Given the description of an element on the screen output the (x, y) to click on. 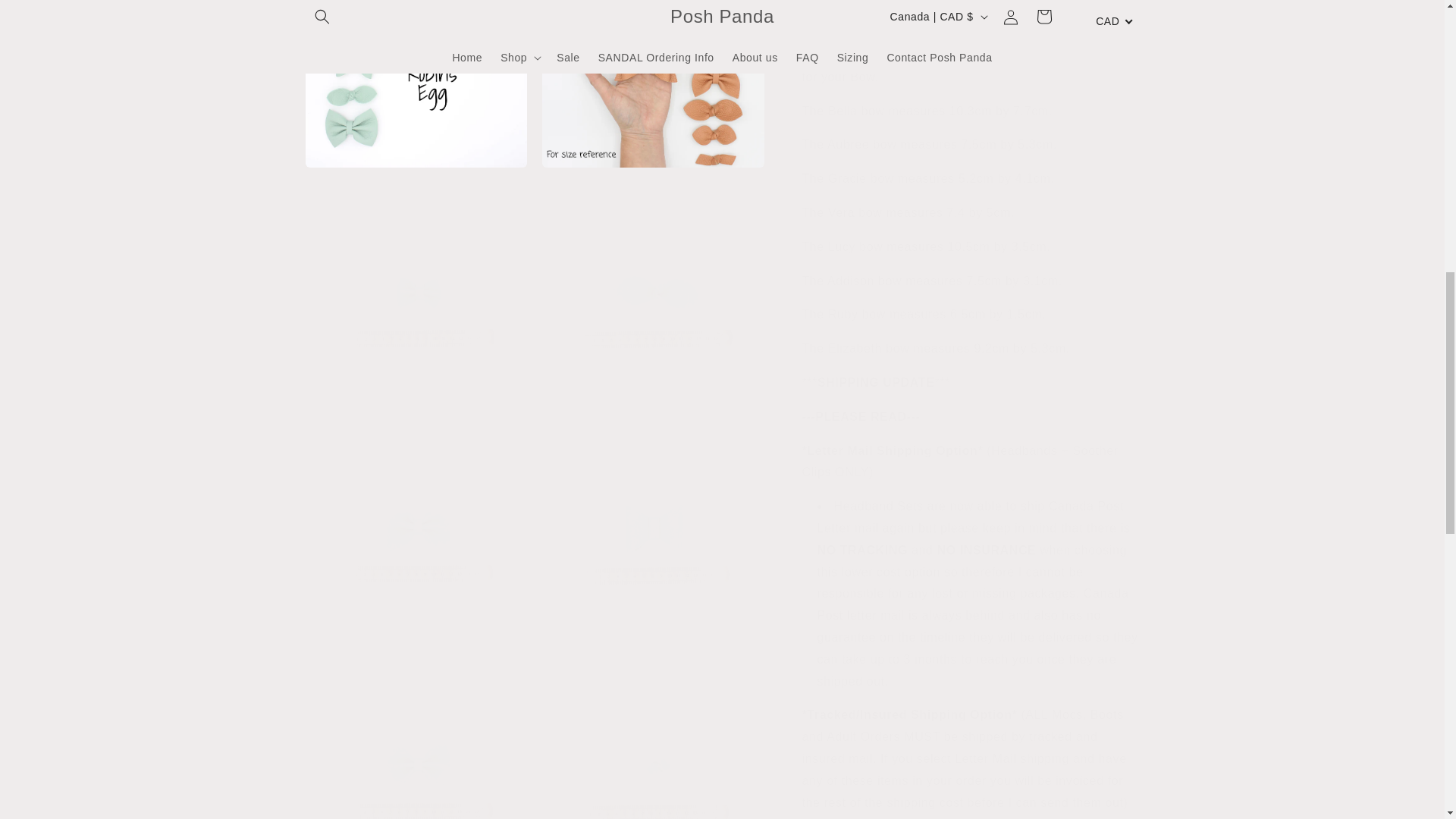
Open media 8 in modal (415, 607)
Open media 3 in modal (652, 3)
Open media 5 in modal (652, 133)
Open media 10 in modal (415, 776)
Open media 4 in modal (415, 133)
Open media 6 in modal (415, 370)
Open media 2 in modal (415, 3)
Open media 7 in modal (652, 370)
Open media 9 in modal (652, 607)
